Given the description of an element on the screen output the (x, y) to click on. 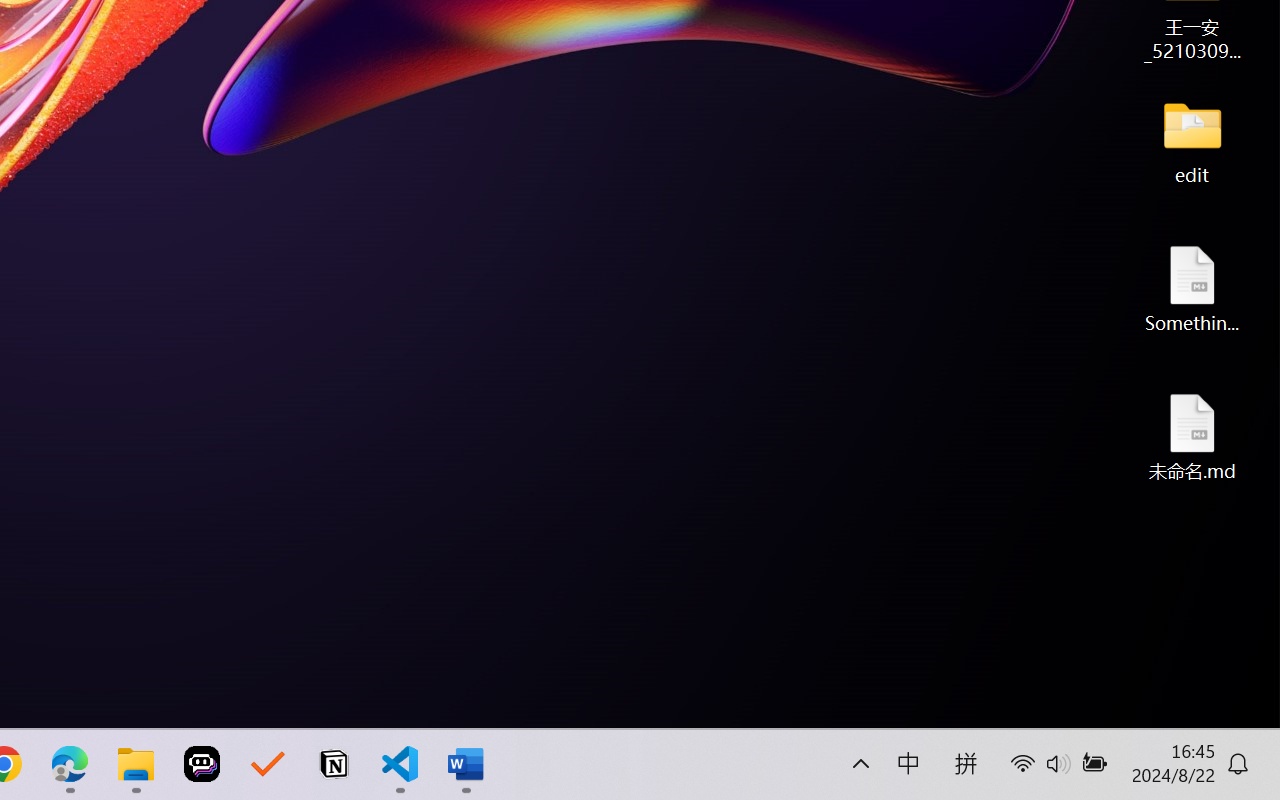
edit (1192, 140)
Something.md (1192, 288)
